Given the description of an element on the screen output the (x, y) to click on. 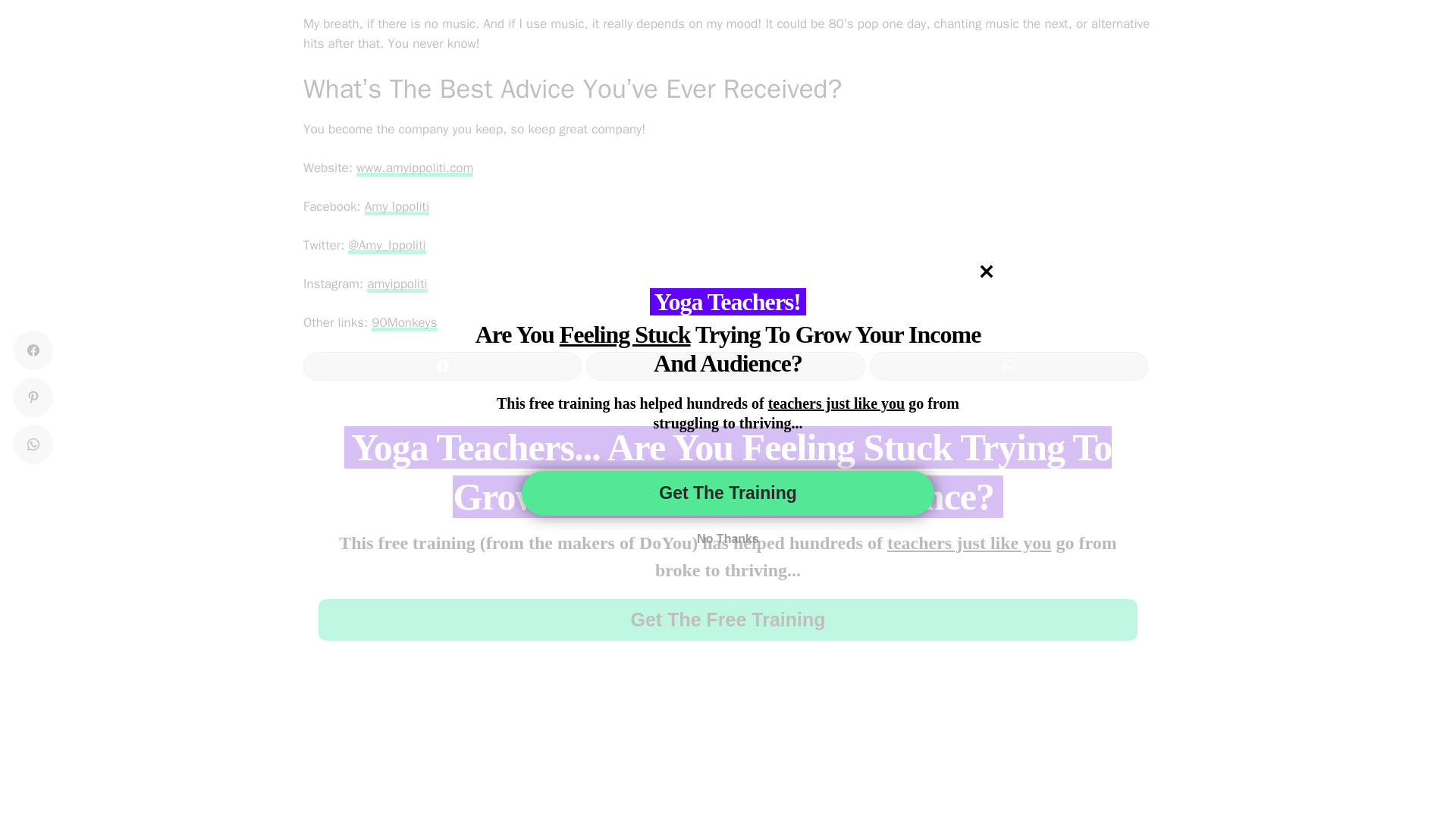
Get The Free Training (727, 619)
